Given the description of an element on the screen output the (x, y) to click on. 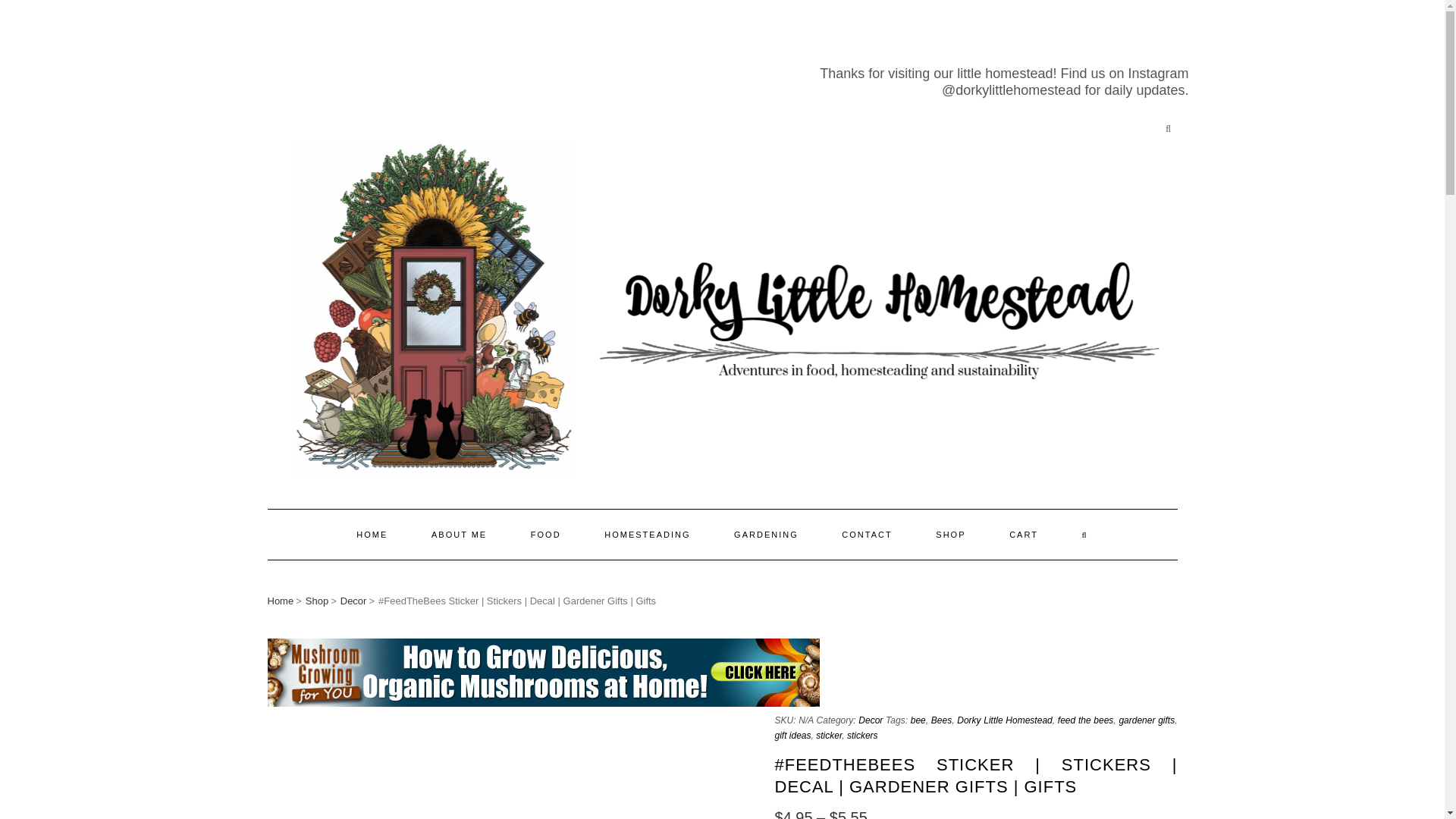
Decor (353, 600)
GARDENING (765, 534)
ABOUT ME (458, 534)
Bees (941, 719)
CART (1023, 534)
FOOD (545, 534)
gardener gifts (1146, 719)
HOMESTEADING (646, 534)
Shop (317, 600)
SHOP (950, 534)
feed the bees (1085, 719)
CONTACT (866, 534)
Home (280, 600)
sticker (828, 735)
stickers (862, 735)
